Given the description of an element on the screen output the (x, y) to click on. 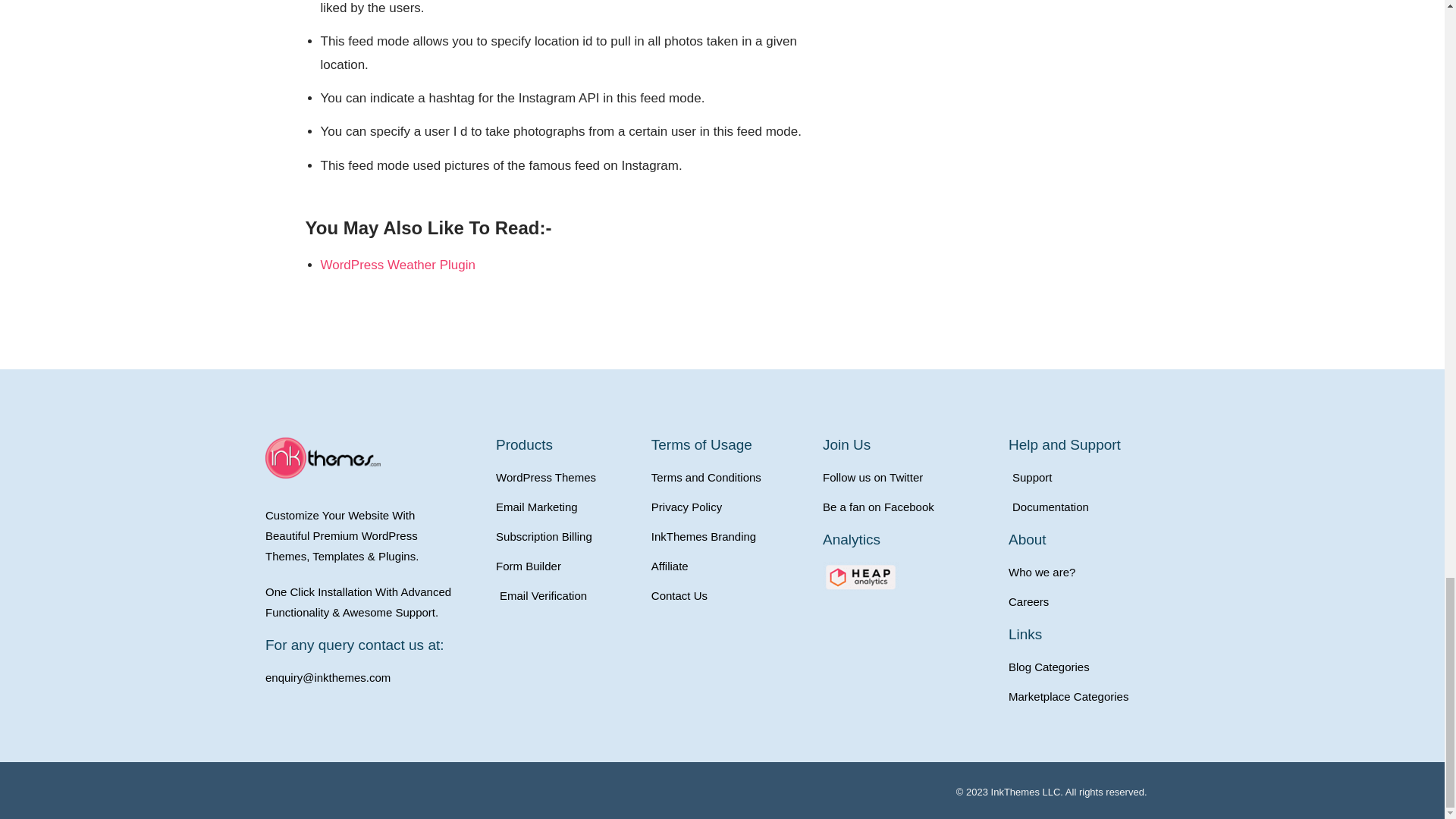
Support (1094, 476)
Careers (1094, 601)
Blog Categories (1094, 666)
Be a fan on Facebook (907, 506)
Form Builder (566, 566)
Email Verification (566, 595)
heap-logo1 (860, 575)
WordPress Weather Plugin (397, 264)
Privacy Policy (729, 506)
Marketplace Categories (1094, 696)
Subscription Billing (566, 536)
Email Marketing (566, 506)
Terms and Conditions (729, 476)
InkThemes Branding (729, 536)
Documentation (1094, 506)
